Given the description of an element on the screen output the (x, y) to click on. 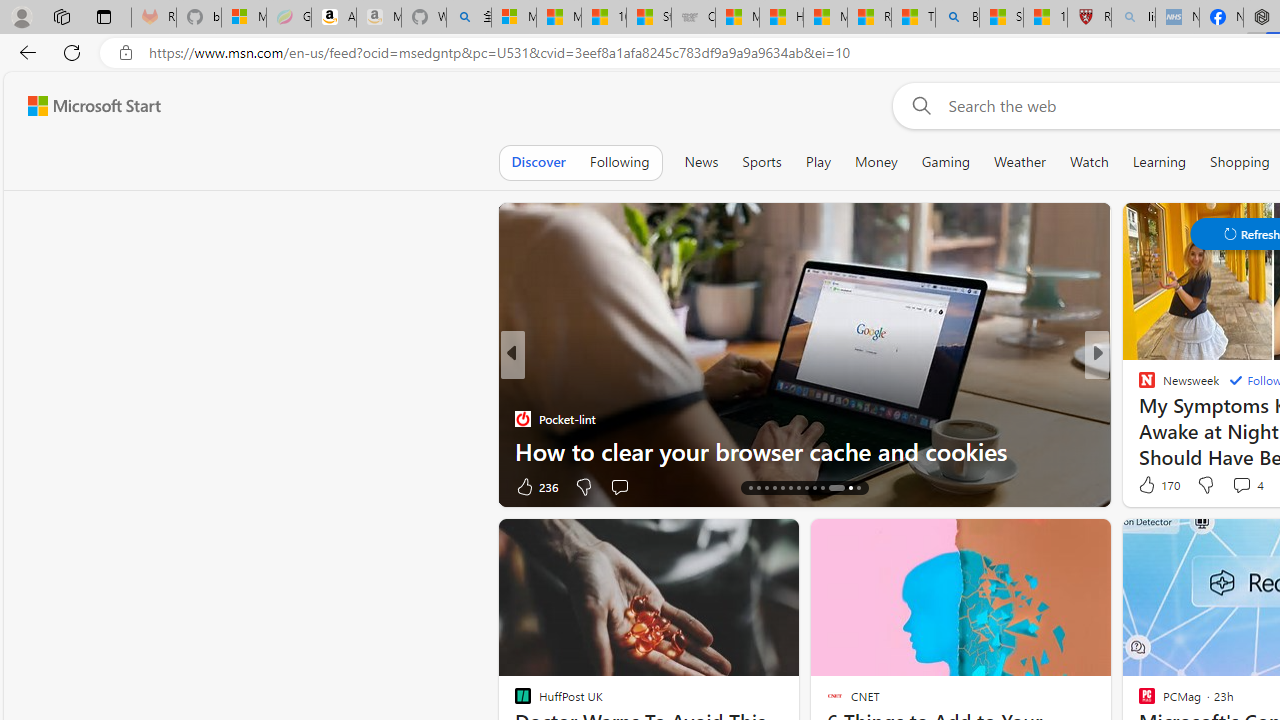
View comments 42 Comment (11, 485)
Skip to footer (82, 105)
12 Popular Science Lies that Must be Corrected (1045, 17)
AutomationID: tab-23 (821, 487)
View comments 4 Comment (1247, 484)
AutomationID: tab-17 (774, 487)
You're following Newsweek (445, 490)
Combat Siege (693, 17)
Shopping (1240, 161)
Sports (761, 161)
How I Got Rid of Microsoft Edge's Unnecessary Features (781, 17)
